Given the description of an element on the screen output the (x, y) to click on. 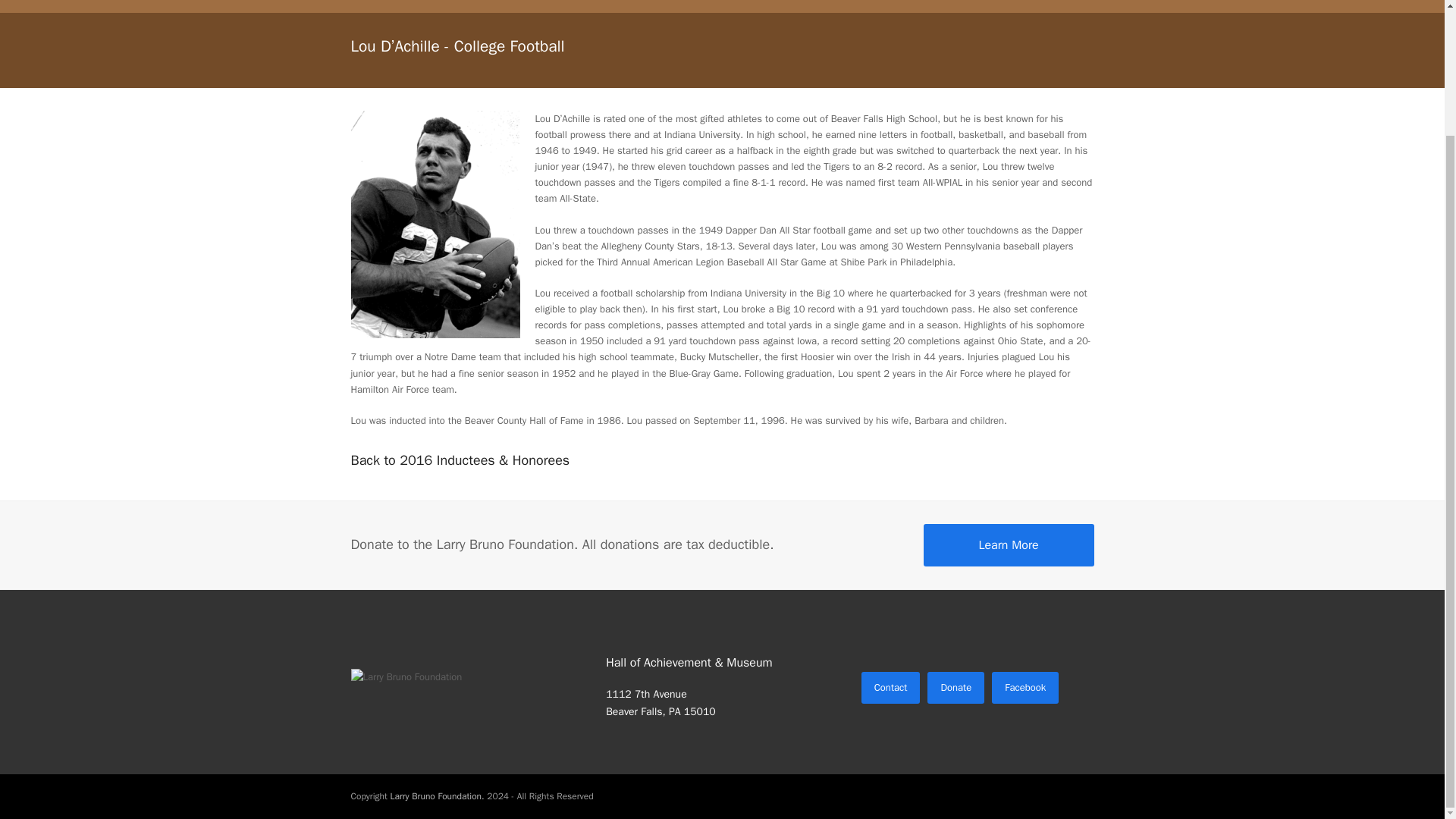
Learn More (1008, 545)
Contact (890, 686)
Donate (955, 686)
Larry Bruno Foundation. (436, 796)
Facebook (1024, 686)
